Given the description of an element on the screen output the (x, y) to click on. 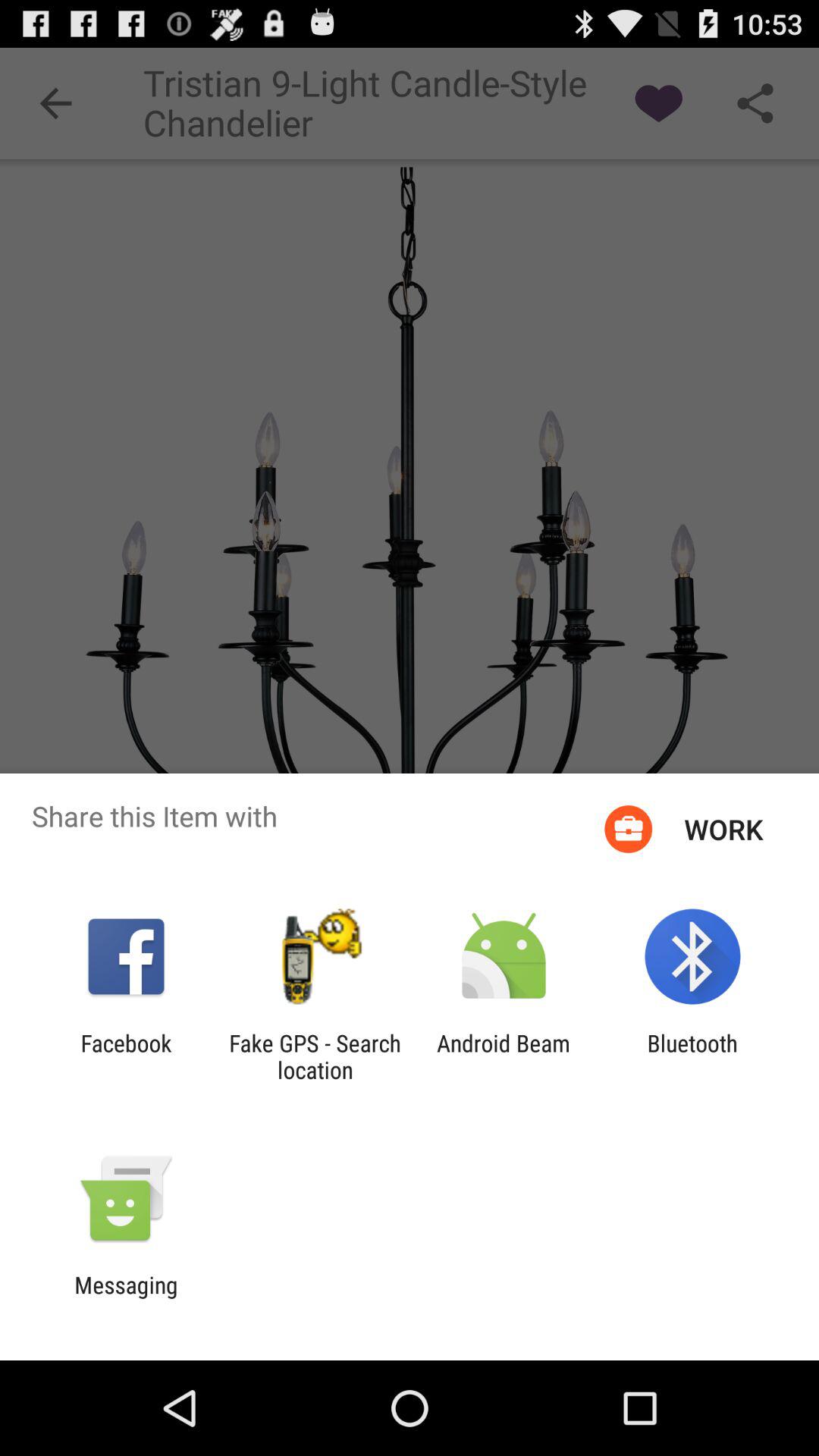
select the app to the right of the android beam icon (692, 1056)
